Given the description of an element on the screen output the (x, y) to click on. 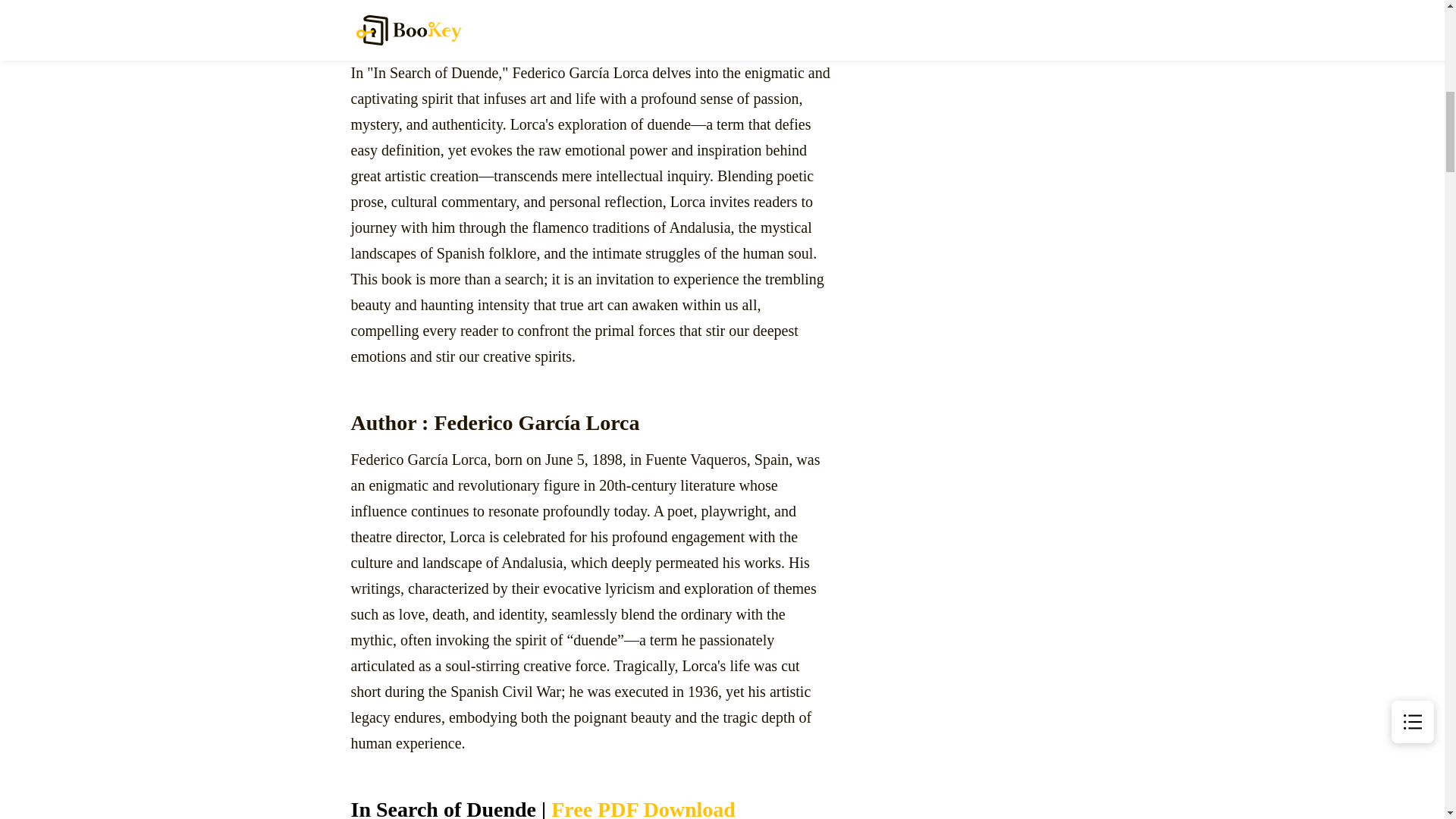
In Search of Duende Free PDF Download (590, 806)
